Given the description of an element on the screen output the (x, y) to click on. 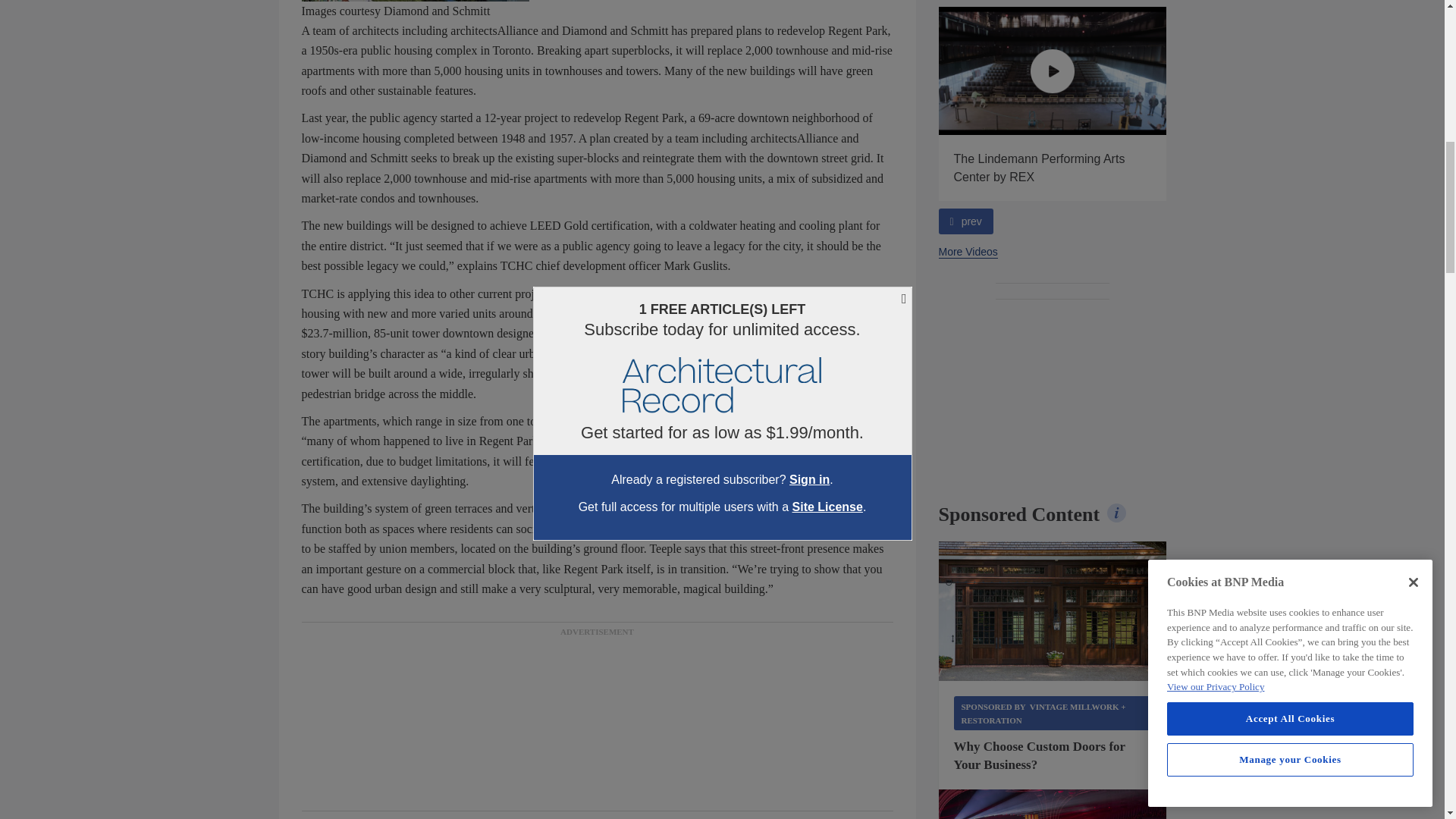
iF Design Awards (1052, 804)
Vintage Millwork Doors (1052, 610)
The Lindemann Performing Arts Center by REX (1052, 70)
